Given the description of an element on the screen output the (x, y) to click on. 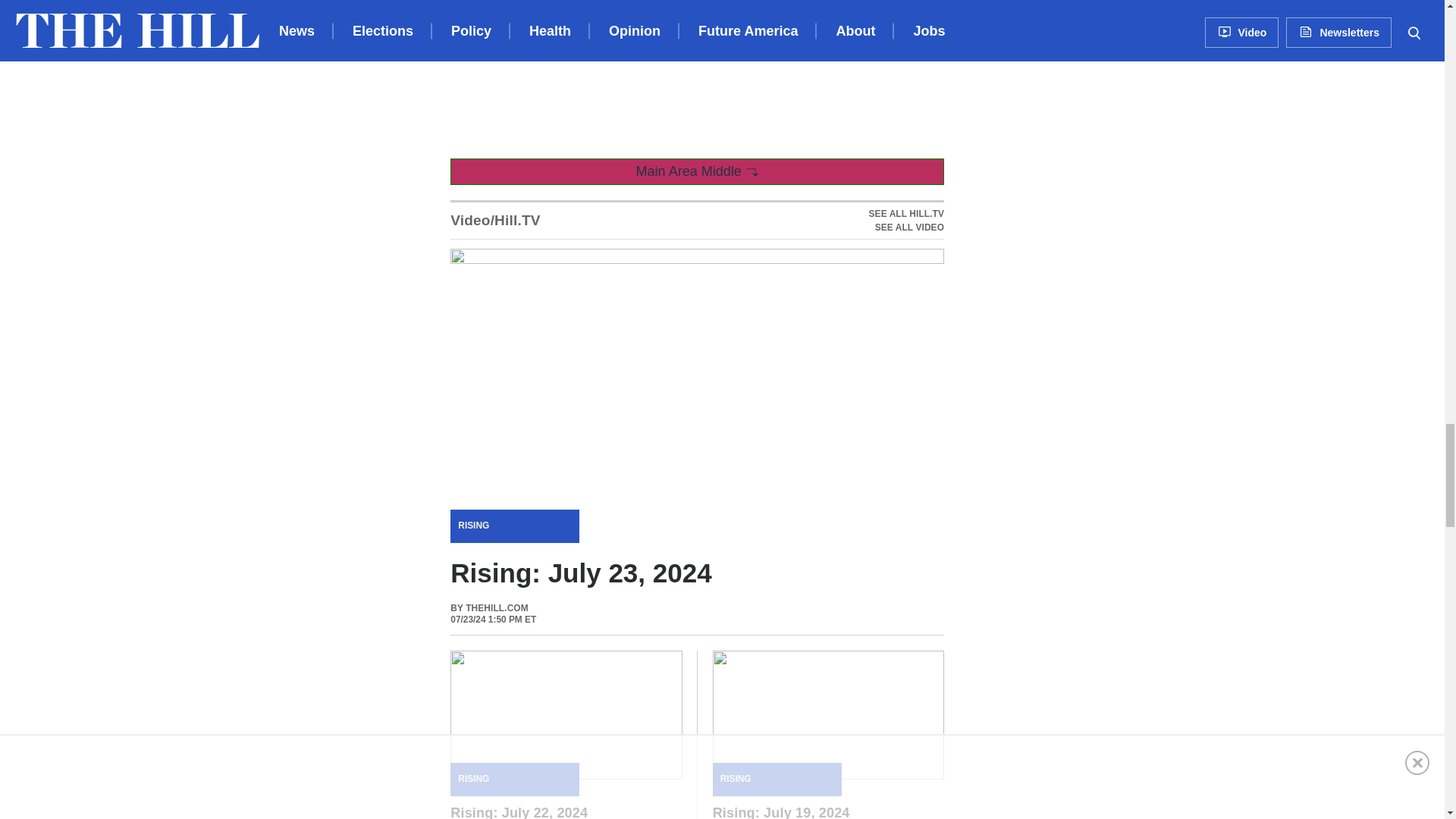
SEE ALL HILL.TV (906, 213)
SEE ALL VIDEO (906, 227)
3rd party ad content (906, 220)
